Given the description of an element on the screen output the (x, y) to click on. 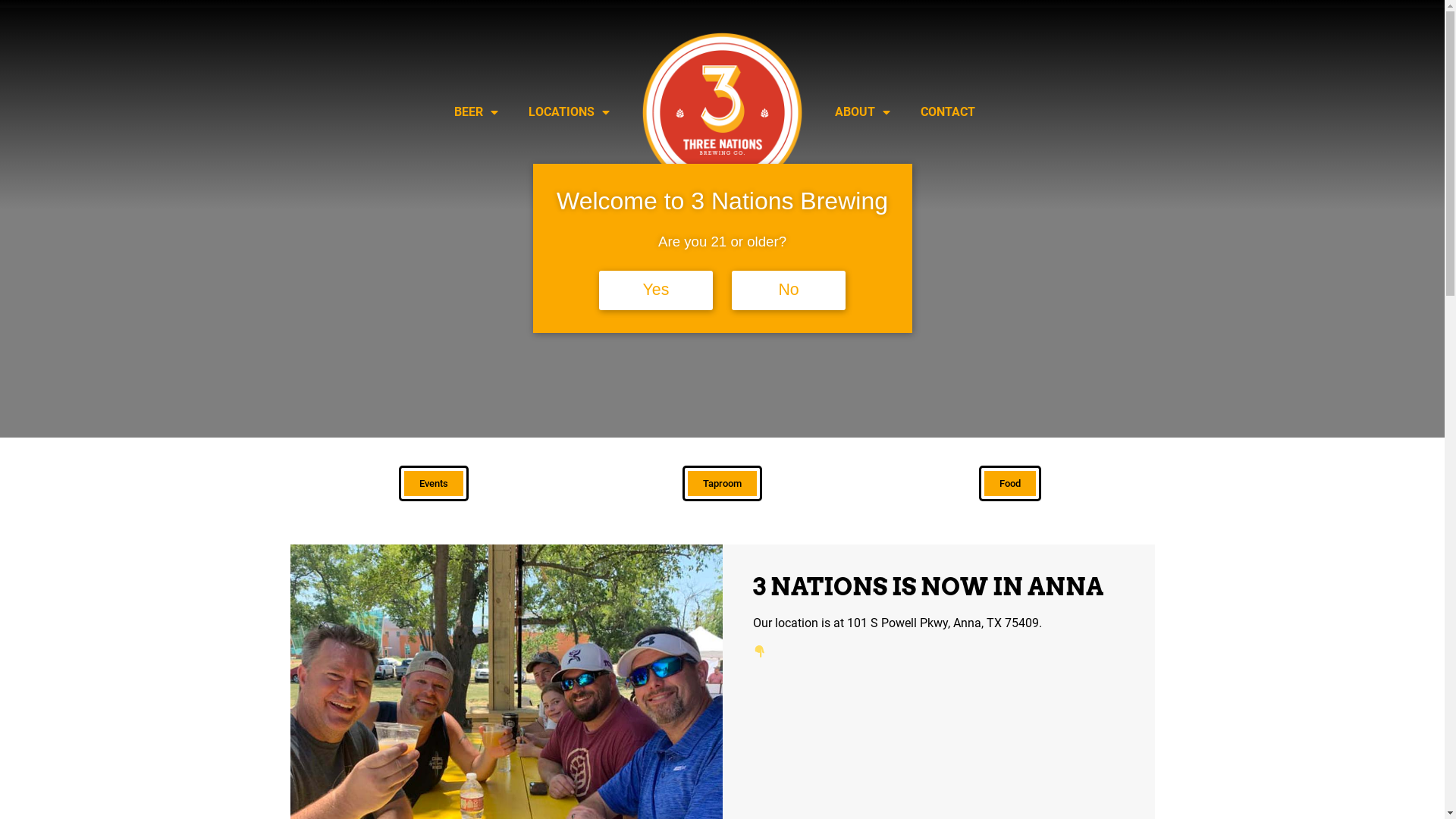
CONTACT Element type: text (947, 111)
LOCATIONS Element type: text (568, 111)
ABOUT Element type: text (862, 111)
Events Element type: text (433, 482)
Taproom Element type: text (721, 482)
Yes Element type: text (655, 290)
No Element type: text (788, 290)
BEER Element type: text (476, 111)
Food Element type: text (1009, 482)
